Given the description of an element on the screen output the (x, y) to click on. 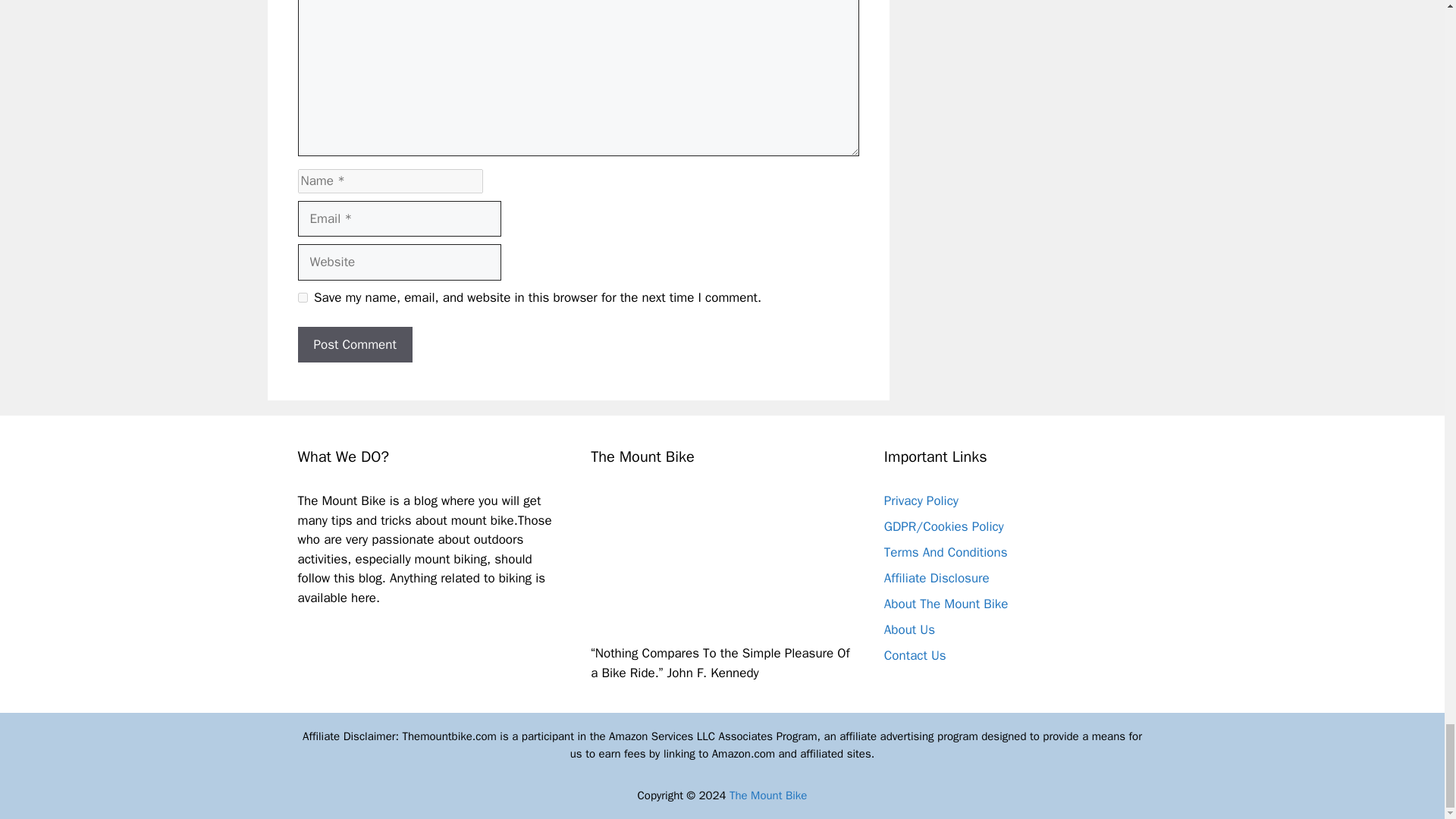
Post Comment (354, 344)
Post Comment (354, 344)
yes (302, 297)
